Given the description of an element on the screen output the (x, y) to click on. 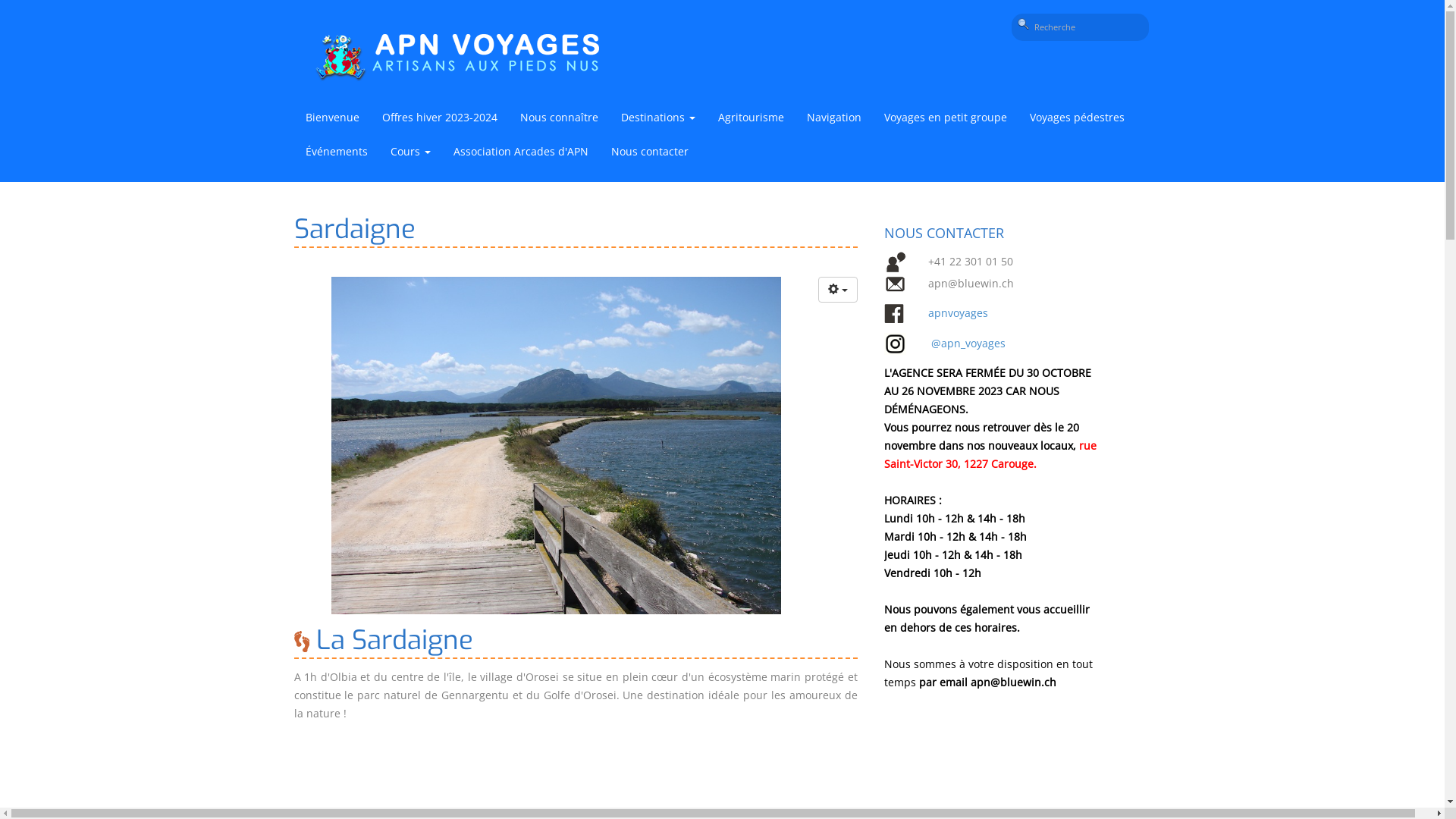
Offres hiver 2023-2024 Element type: text (439, 119)
Destinations Element type: text (657, 119)
Navigation Element type: text (833, 119)
@apn_voyages Element type: text (968, 342)
Voyages en petit groupe Element type: text (944, 119)
apnvoyages Element type: text (958, 312)
Association Arcades d'APN Element type: text (520, 153)
apn@bluewin.ch Element type: text (1013, 681)
Cours Element type: text (410, 153)
Nous contacter Element type: text (649, 153)
Agritourisme Element type: text (750, 119)
Bienvenue Element type: text (332, 119)
